Given the description of an element on the screen output the (x, y) to click on. 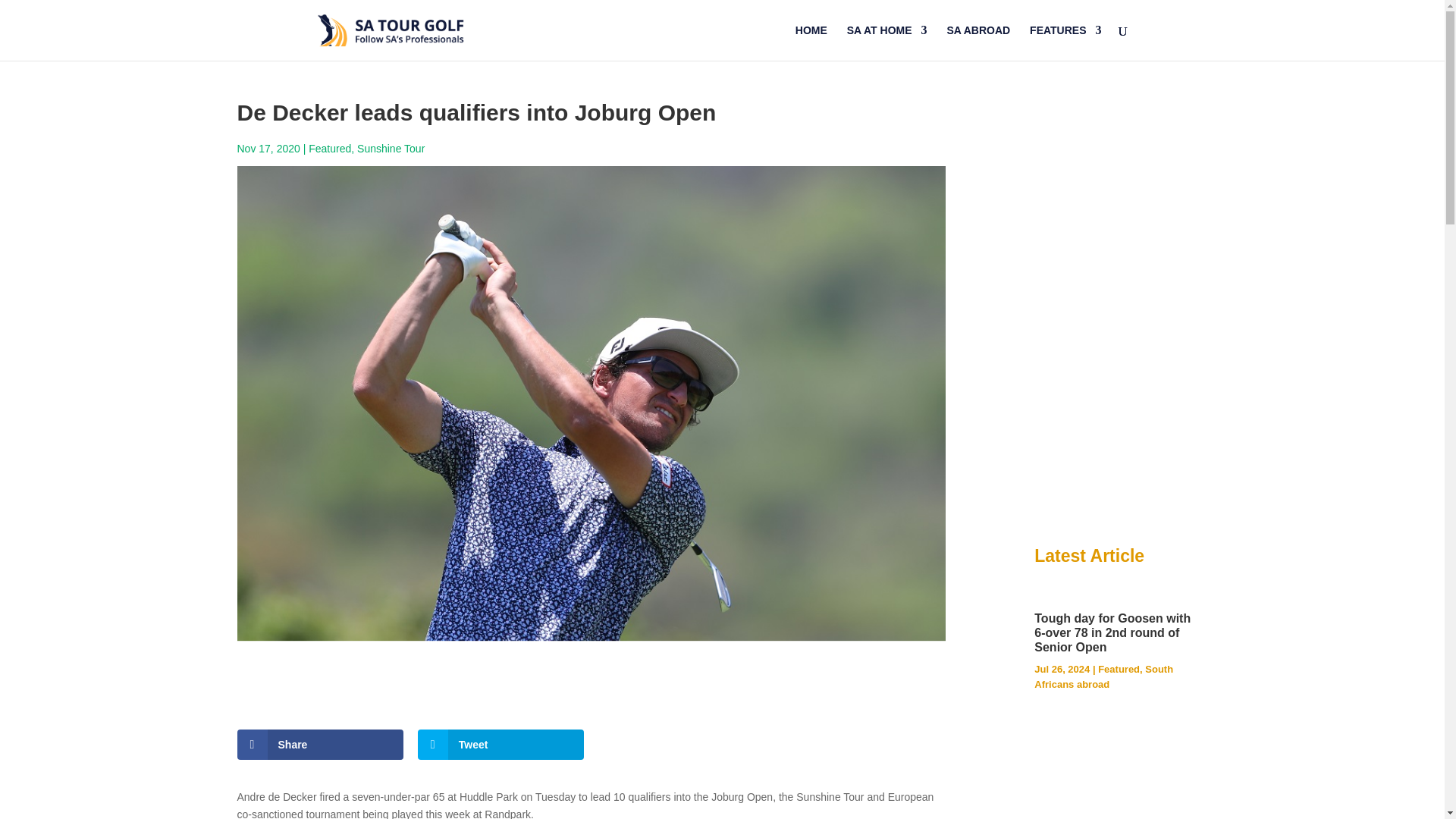
Share (319, 744)
HOME (810, 42)
Sunshine Tour (390, 148)
FEATURES (1064, 42)
Tweet (501, 744)
Featured (1118, 668)
SA AT HOME (887, 42)
South Africans abroad (1103, 676)
Featured (329, 148)
SA ABROAD (978, 42)
